Given the description of an element on the screen output the (x, y) to click on. 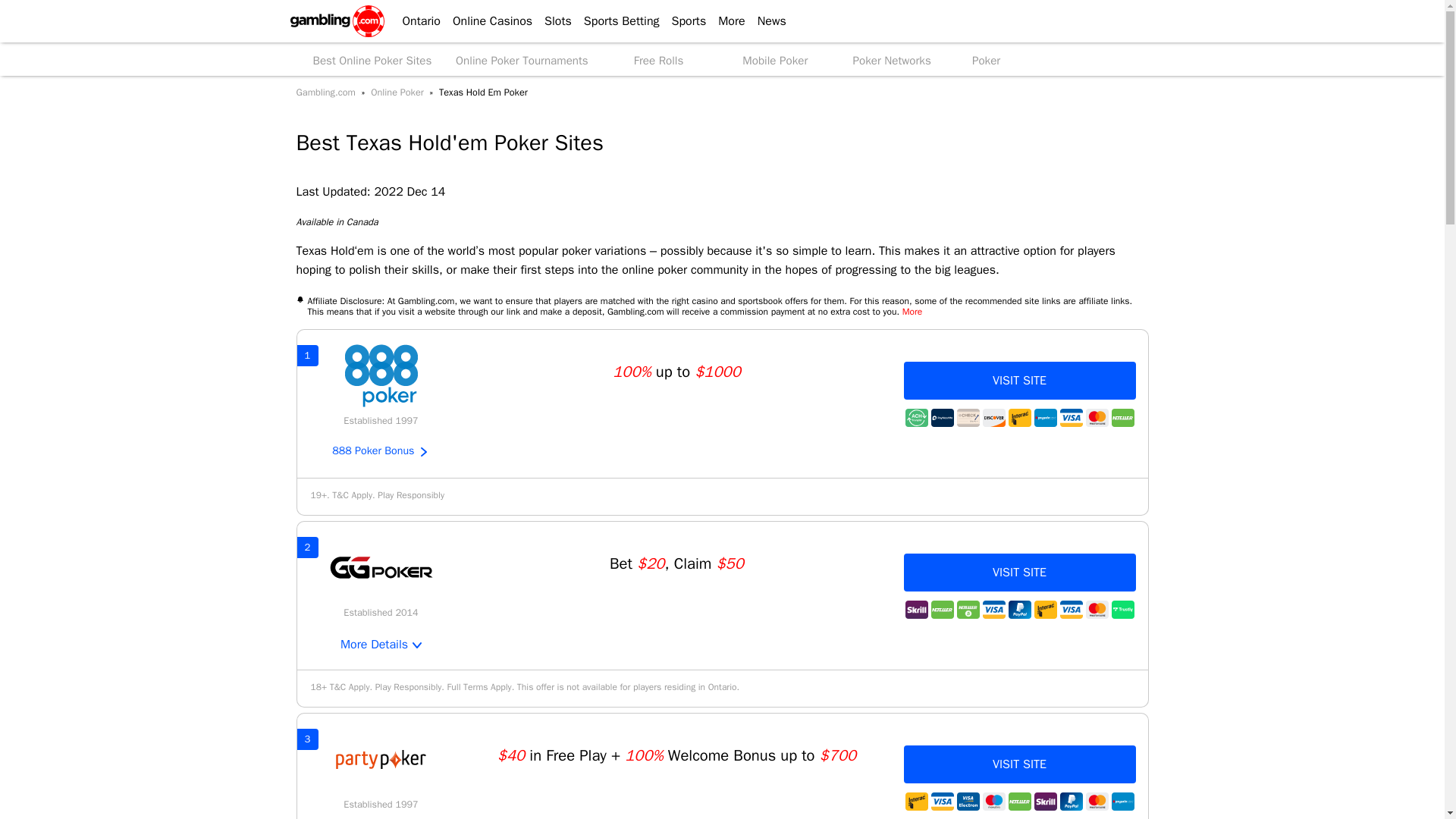
Interac (1019, 417)
Credit Card (994, 609)
Ontario (414, 21)
Trustly (1123, 609)
PayPal (1019, 609)
Paysafecard (1045, 417)
PayNearMe (942, 417)
888 Poker (381, 375)
Slots (552, 21)
